Given the description of an element on the screen output the (x, y) to click on. 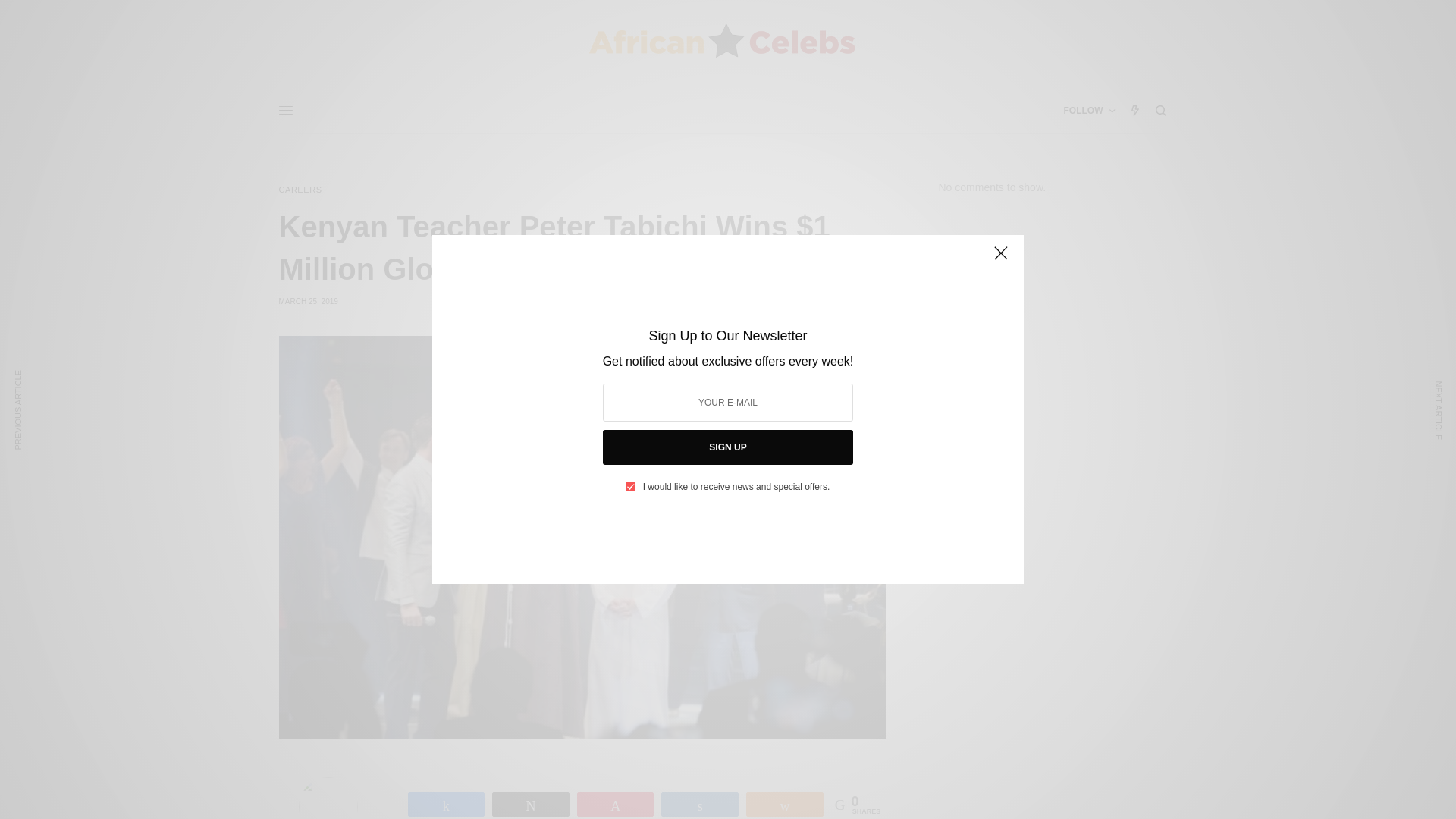
FOLLOW (1089, 110)
CAREERS (300, 189)
SIGN UP (727, 447)
African Celebs (720, 43)
